Given the description of an element on the screen output the (x, y) to click on. 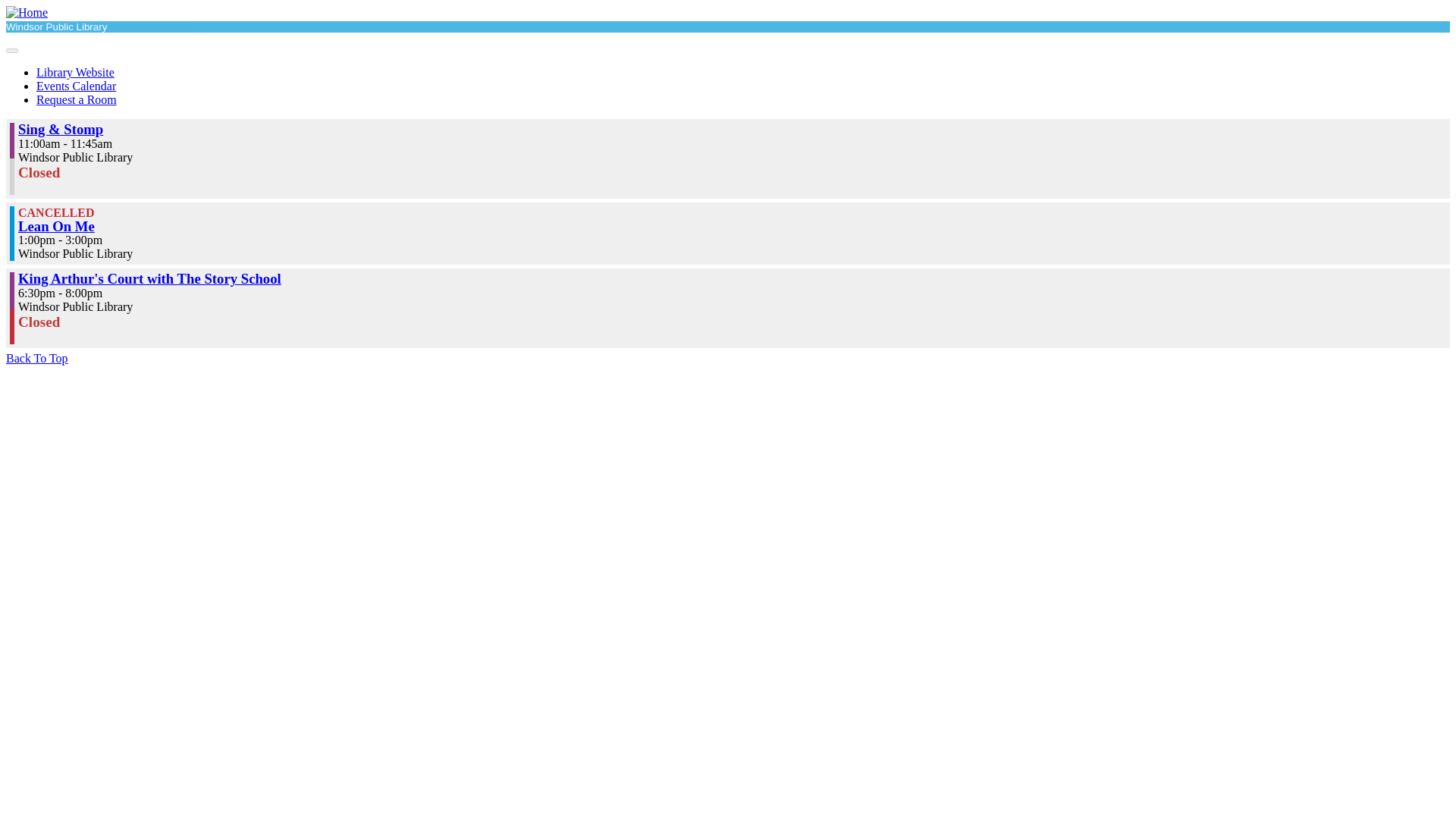
Lean On Me (55, 226)
Home (26, 11)
King Arthur's Court with The Story School (149, 278)
Request a Room (76, 99)
Library Website (75, 72)
Events Calendar (76, 85)
Toggle Navigation (11, 50)
